Given the description of an element on the screen output the (x, y) to click on. 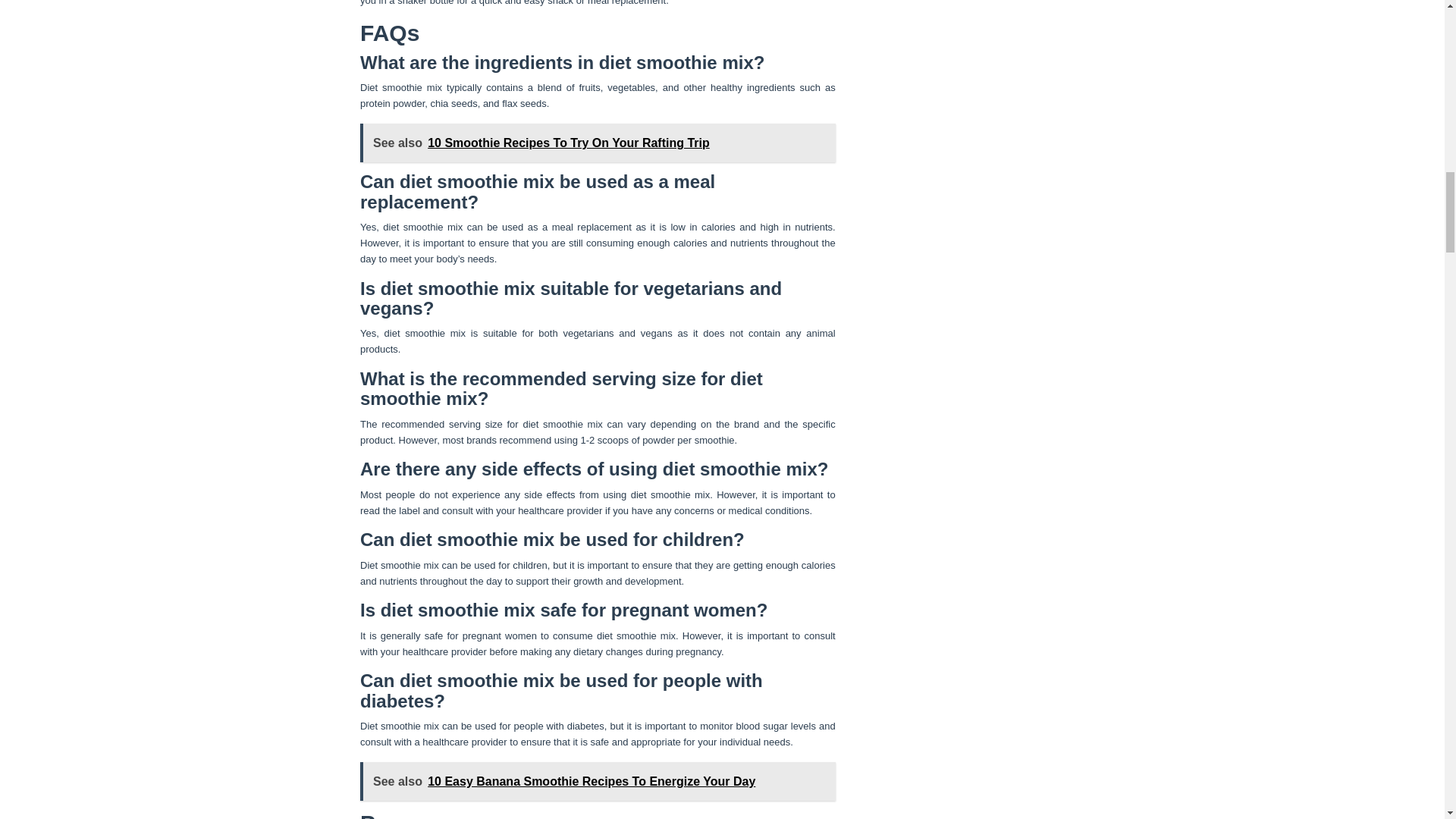
See also  10 Smoothie Recipes To Try On Your Rafting Trip (597, 142)
